Given the description of an element on the screen output the (x, y) to click on. 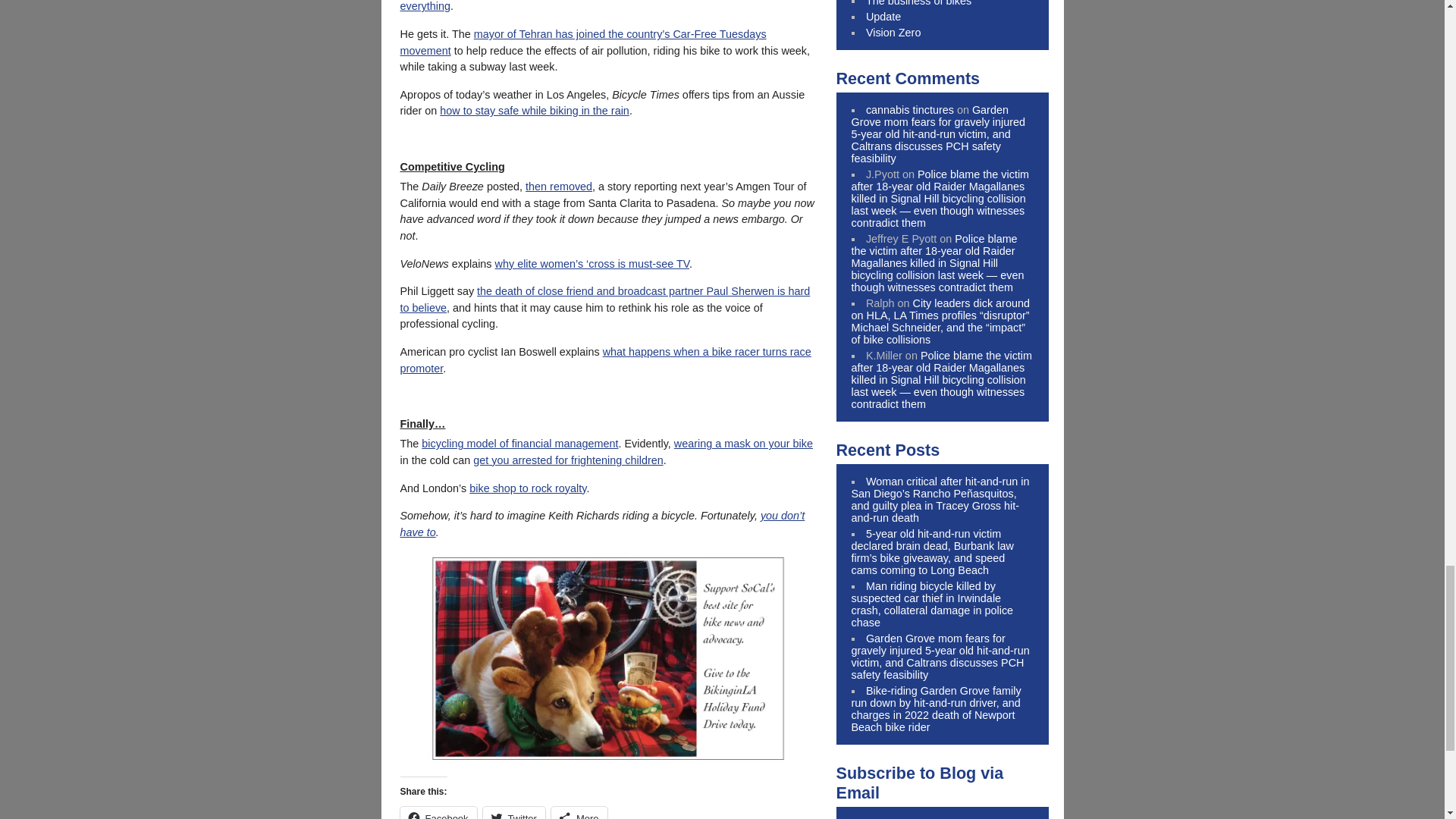
Click to share on Facebook (438, 812)
Click to share on Twitter (513, 812)
